Given the description of an element on the screen output the (x, y) to click on. 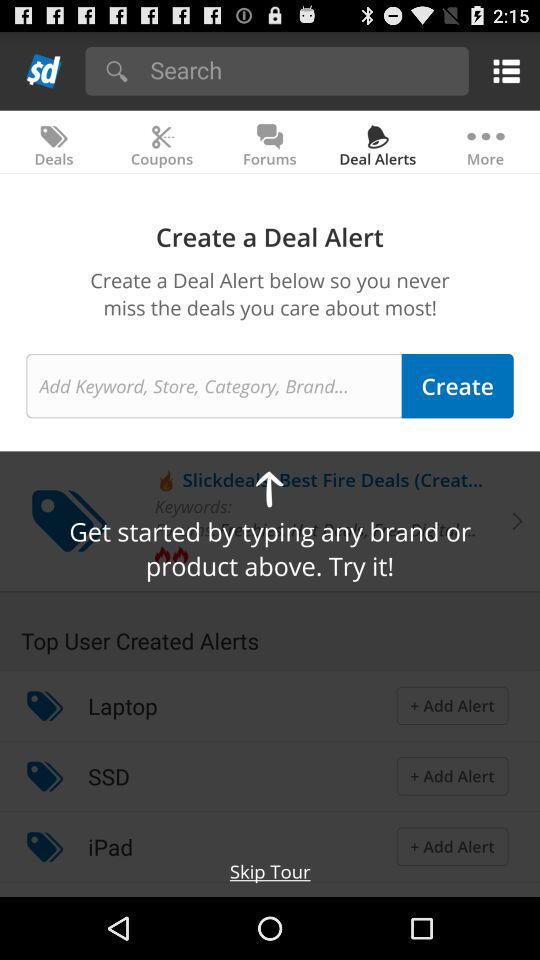
drop down menu (44, 70)
